Given the description of an element on the screen output the (x, y) to click on. 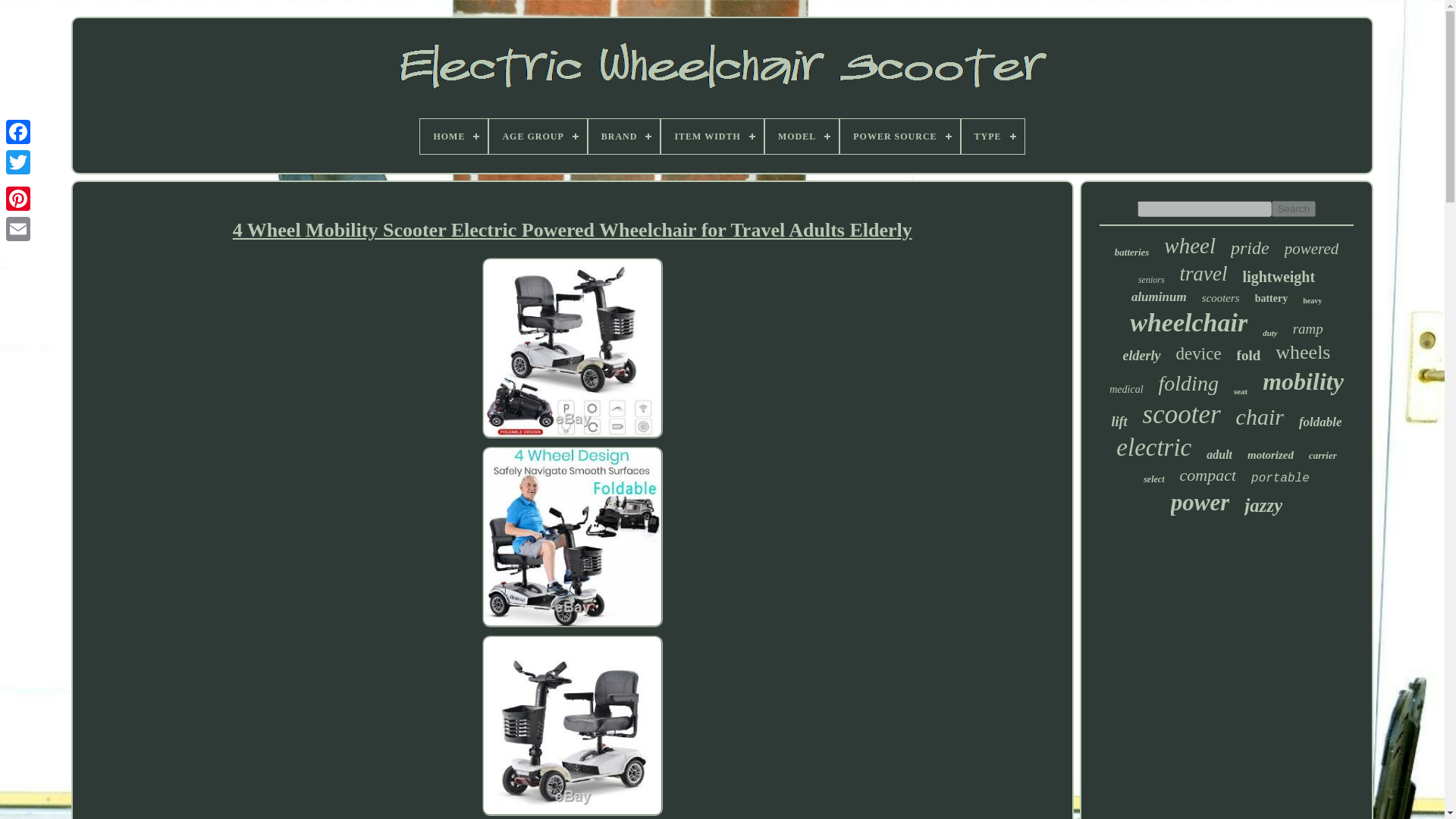
BRAND (624, 135)
HOME (453, 135)
AGE GROUP (537, 135)
Search (1293, 208)
Email (17, 228)
